Given the description of an element on the screen output the (x, y) to click on. 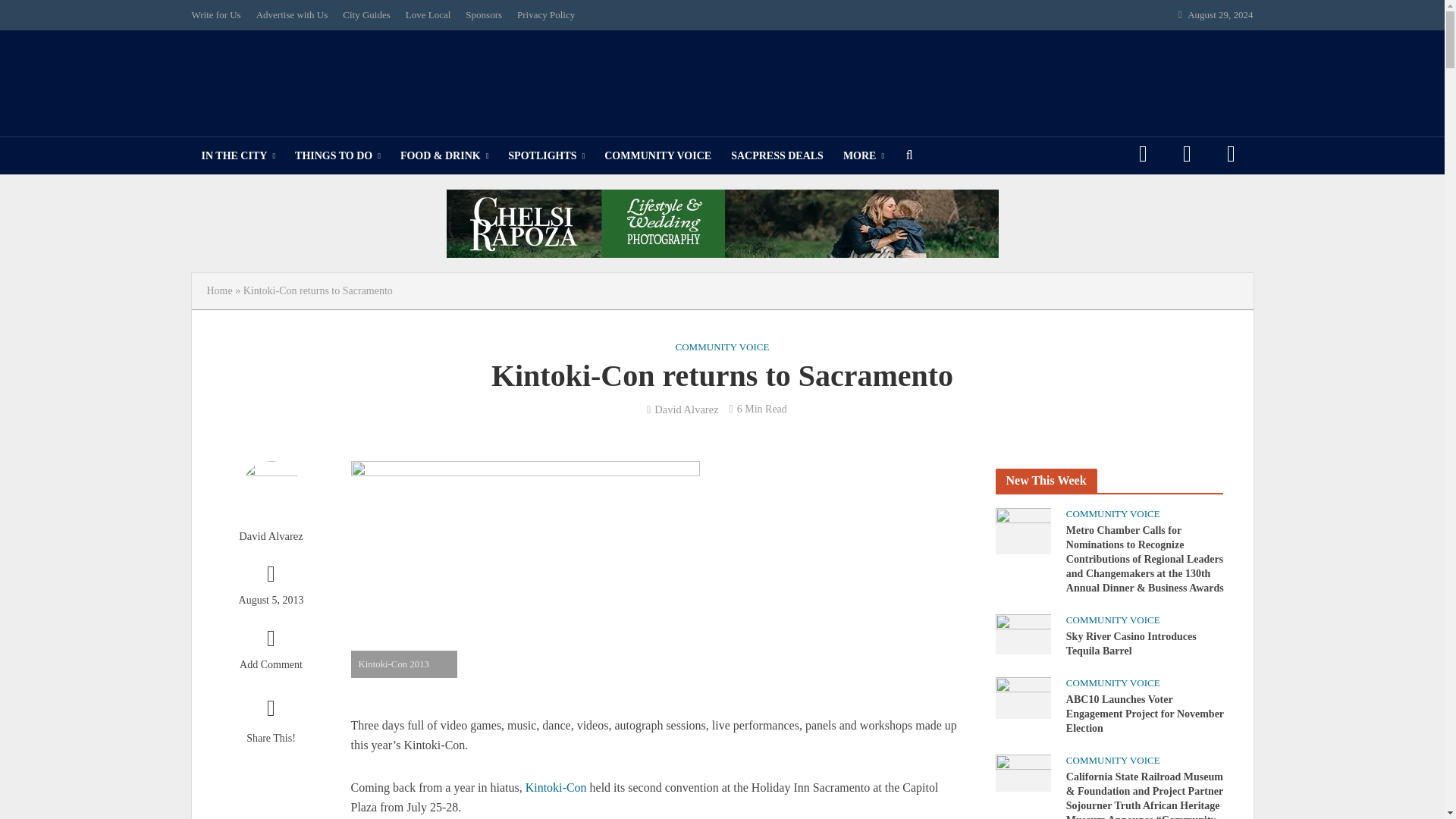
MORE (862, 156)
SPOTLIGHTS (545, 156)
City Guides (365, 15)
COMMUNITY VOICE (657, 156)
THINGS TO DO (337, 156)
IN THE CITY (237, 156)
Love Local (427, 15)
Advertise with Us (292, 15)
Write for Us (218, 15)
